Given the description of an element on the screen output the (x, y) to click on. 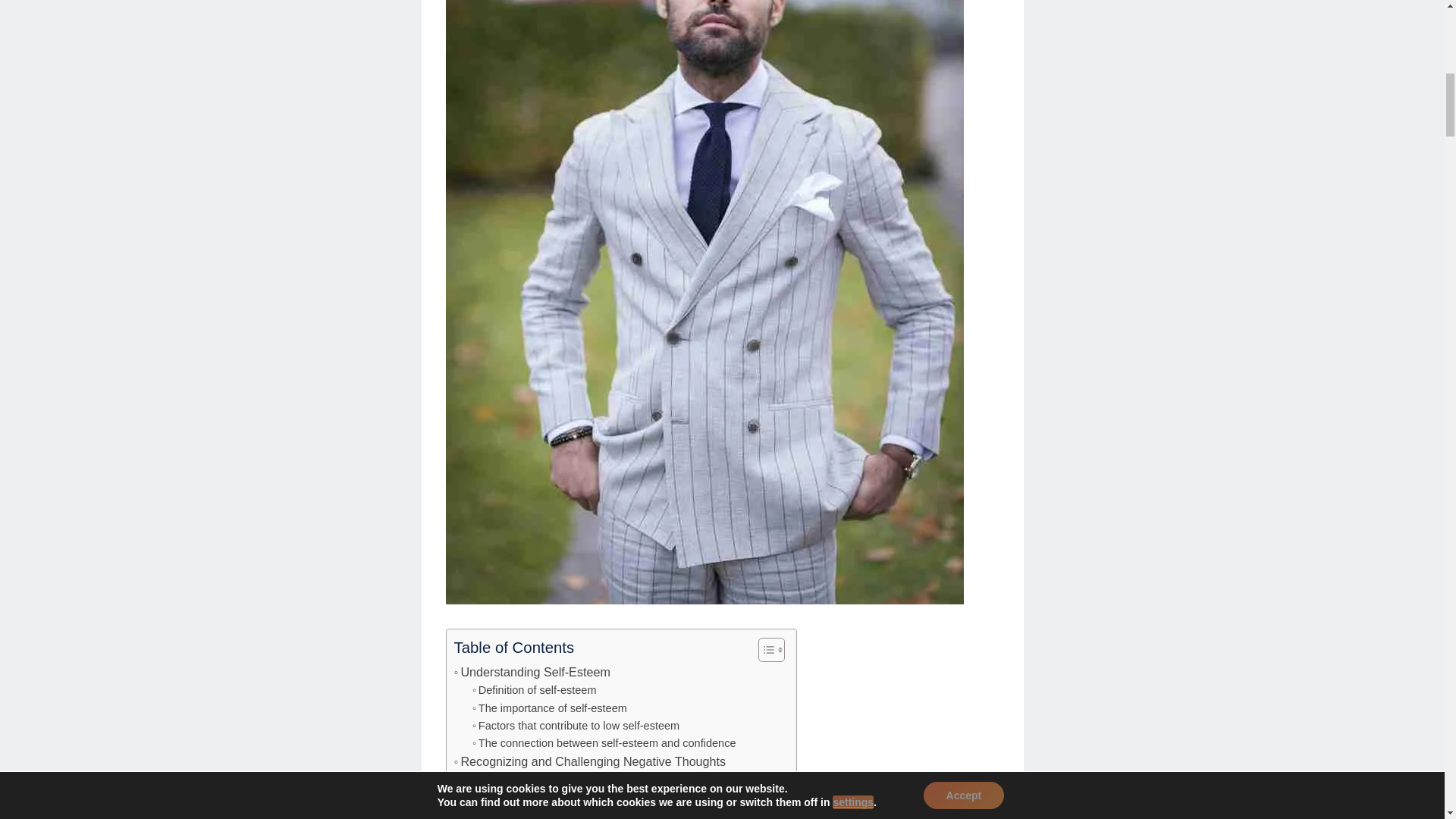
Understanding Self-Esteem (531, 672)
Understanding the impact of negative thoughts on self-esteem (625, 797)
Understanding Self-Esteem (531, 672)
Challenging and reframing negative thoughts (584, 813)
Recognizing and Challenging Negative Thoughts (588, 762)
Definition of self-esteem (533, 690)
Factors that contribute to low self-esteem (575, 725)
Definition of self-esteem (533, 690)
Identifying negative self-talk (542, 780)
The connection between self-esteem and confidence (603, 743)
The connection between self-esteem and confidence (603, 743)
Understanding the impact of negative thoughts on self-esteem (625, 797)
The importance of self-esteem (549, 708)
Factors that contribute to low self-esteem (575, 725)
Identifying negative self-talk (542, 780)
